Given the description of an element on the screen output the (x, y) to click on. 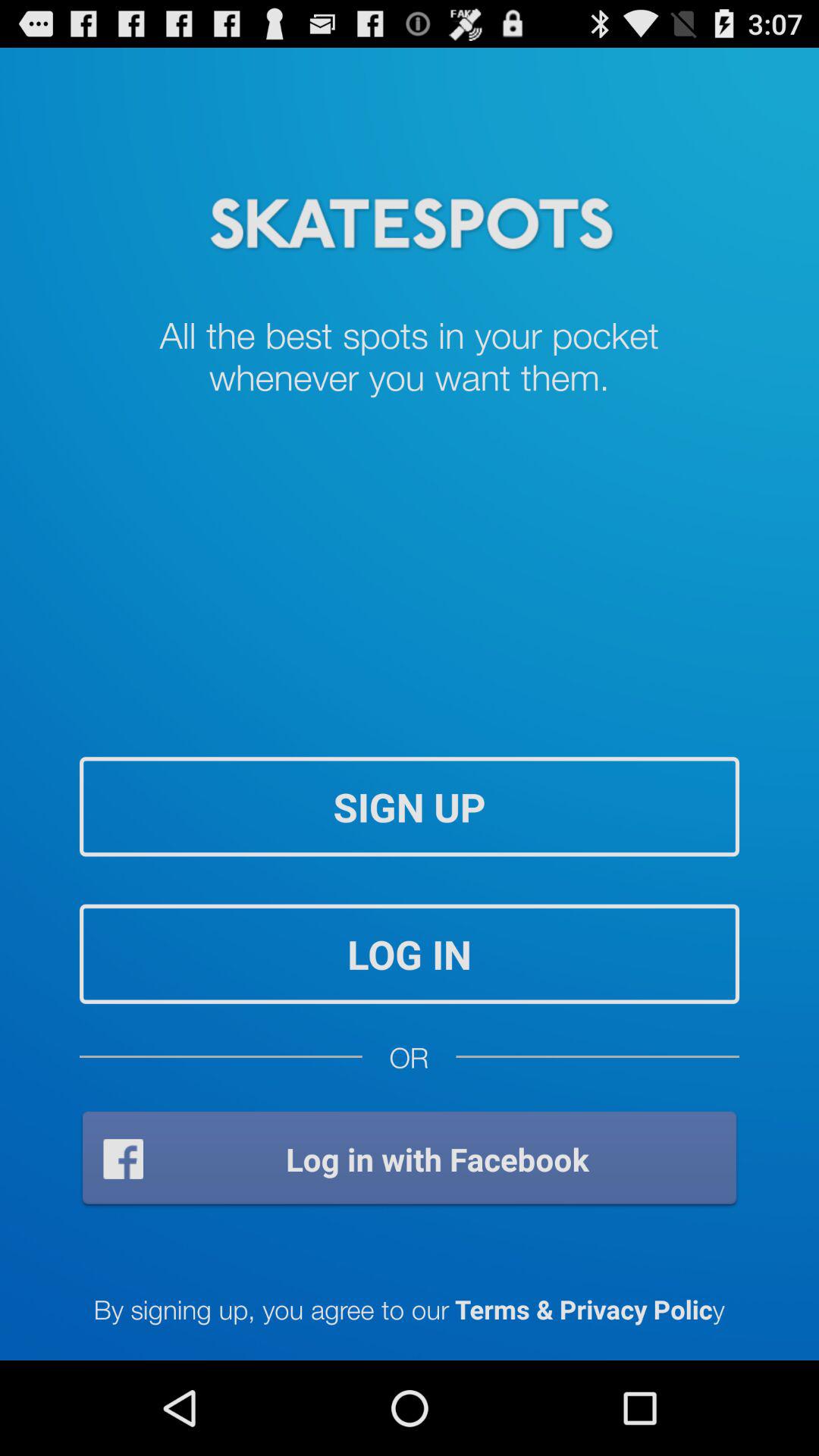
open the item above log in icon (409, 806)
